Given the description of an element on the screen output the (x, y) to click on. 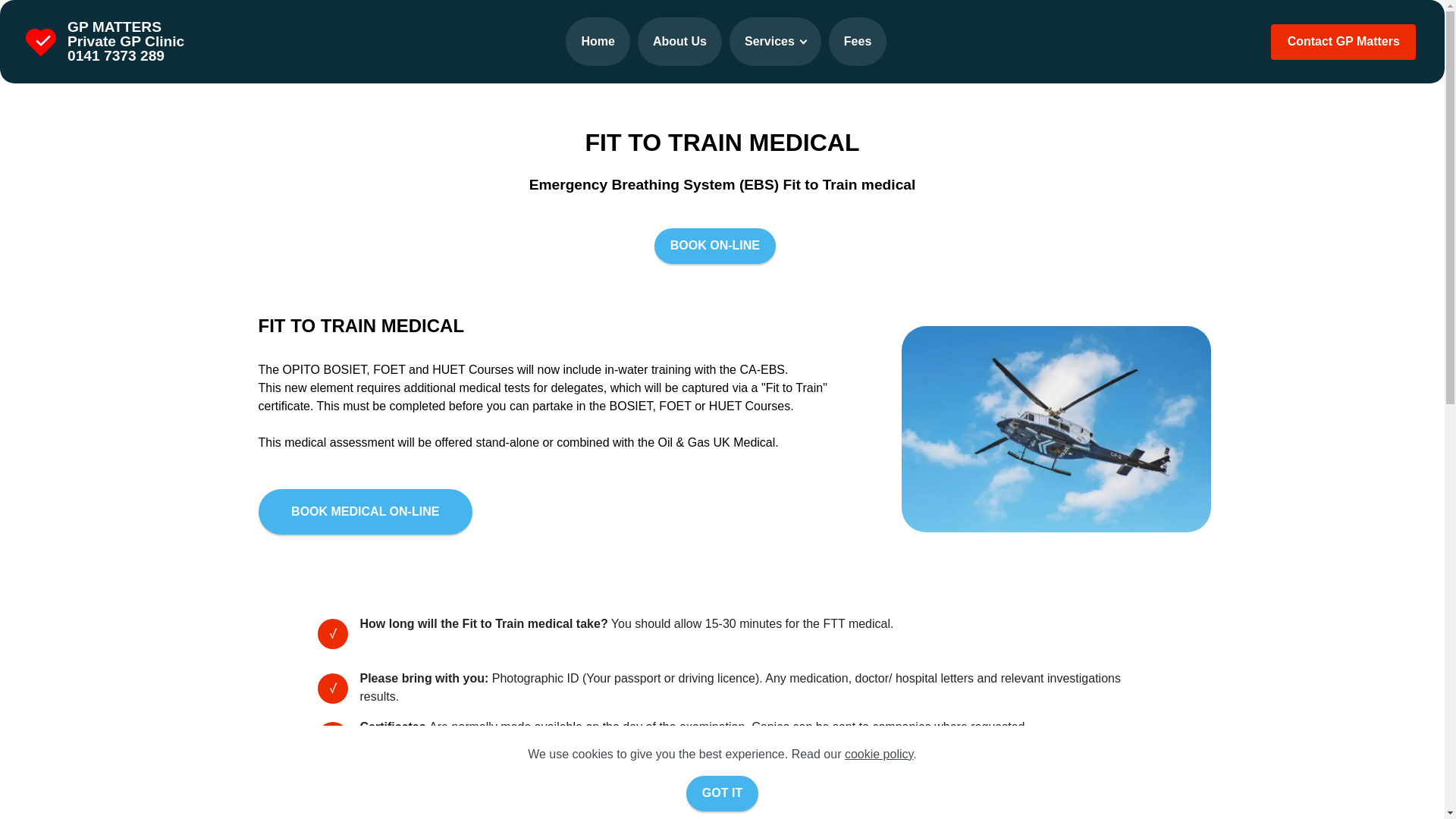
Home (597, 41)
About Us (679, 41)
Services (775, 41)
